Given the description of an element on the screen output the (x, y) to click on. 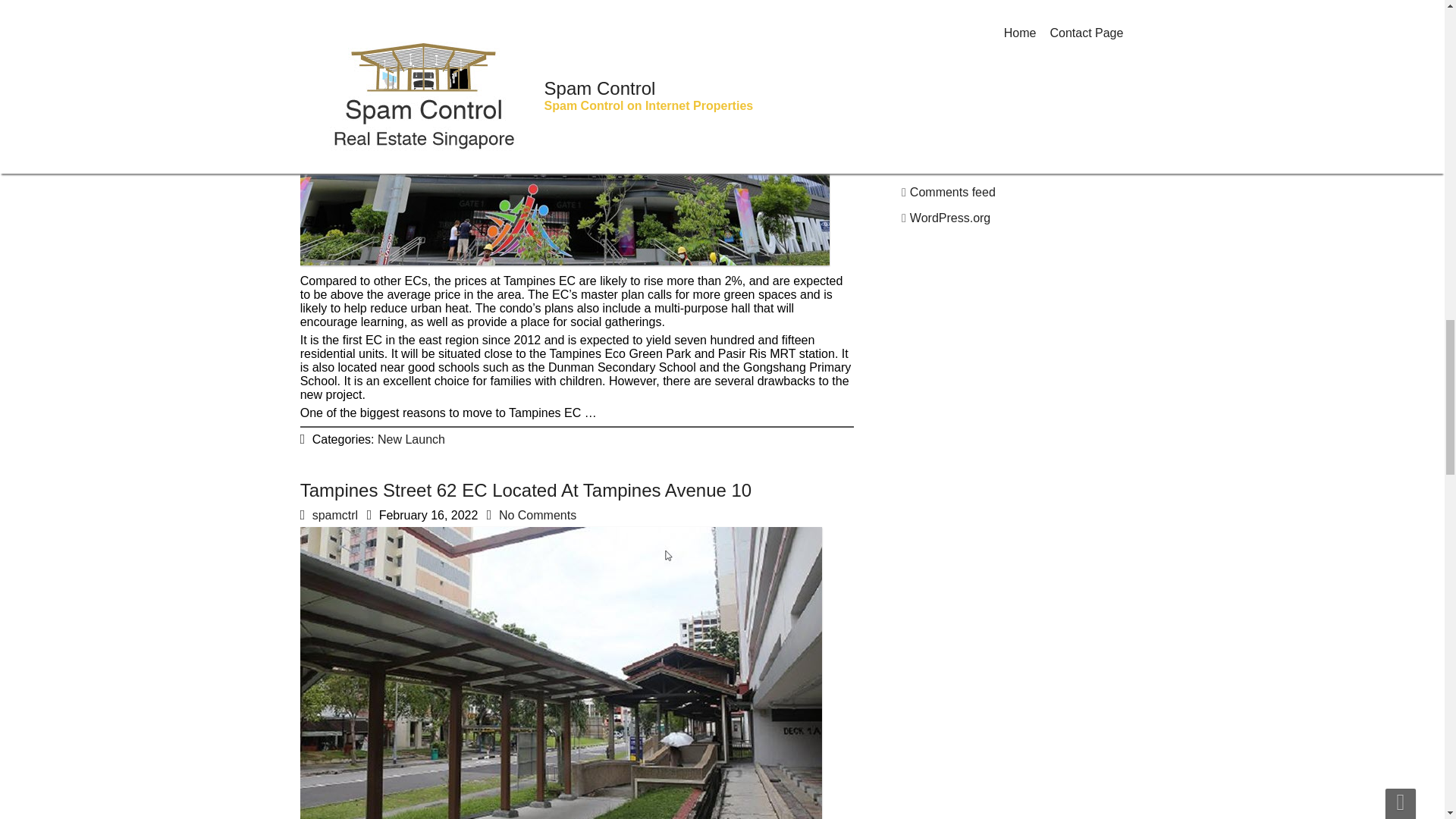
Tampines Street 62 EC Located At Tampines Avenue 10 (525, 489)
No Comments (521, 29)
spamctrl (335, 29)
Tampines EC Located at Tampines Hub Near Courts Megastore (556, 7)
spamctrl (335, 514)
Tampines EC Located at Tampines Hub Near Courts Megastore (565, 264)
Posts by spamctrl (335, 514)
New Launch (411, 439)
Tampines EC Located at Tampines Hub Near Courts Megastore (556, 7)
Tampines Street 62 EC Located At Tampines Avenue 10 (525, 489)
No Comments (537, 514)
Posts by spamctrl (335, 29)
